Given the description of an element on the screen output the (x, y) to click on. 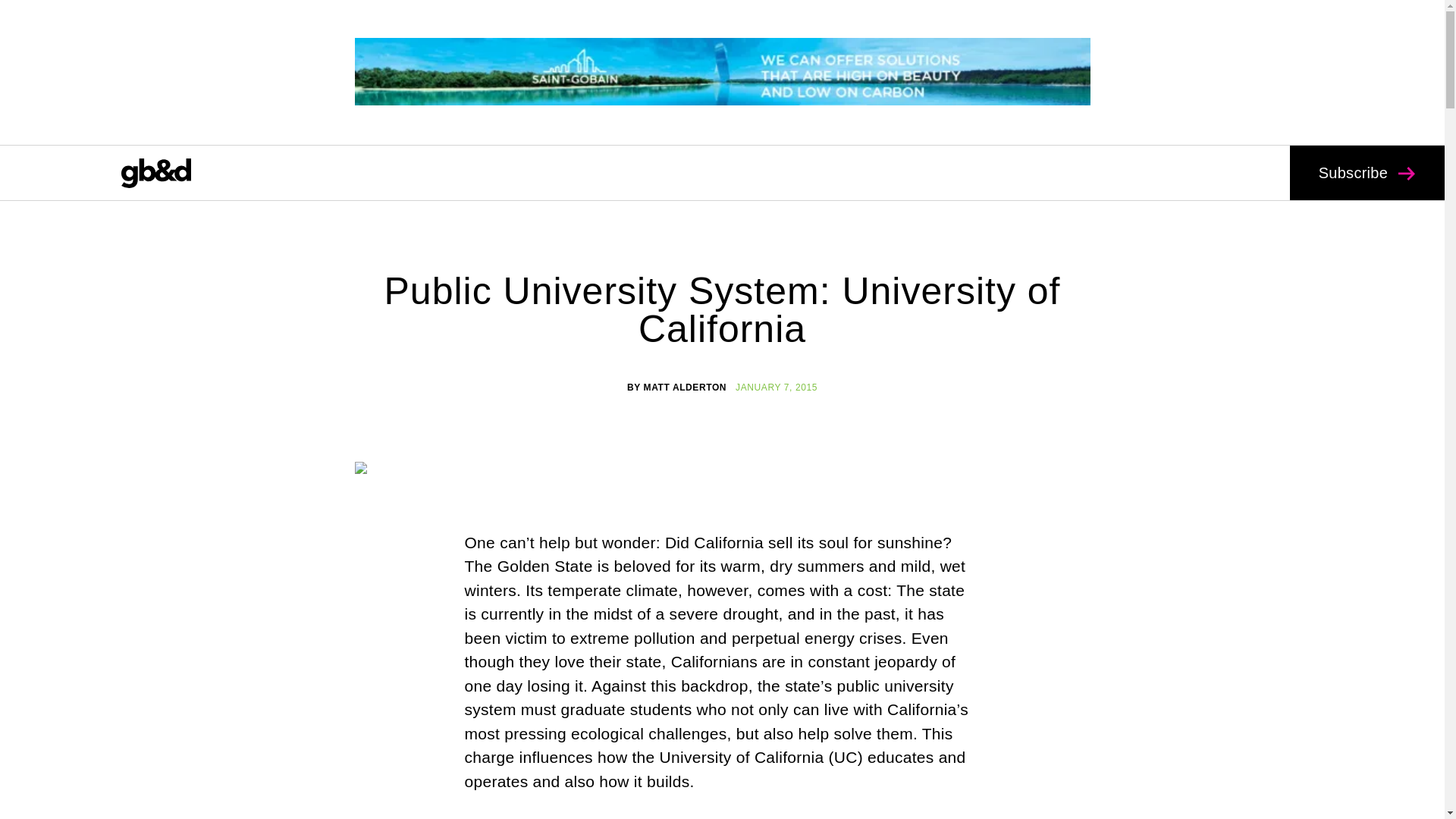
Search for: (659, 117)
Posts by Matt Alderton (684, 387)
MATT ALDERTON (684, 387)
